Given the description of an element on the screen output the (x, y) to click on. 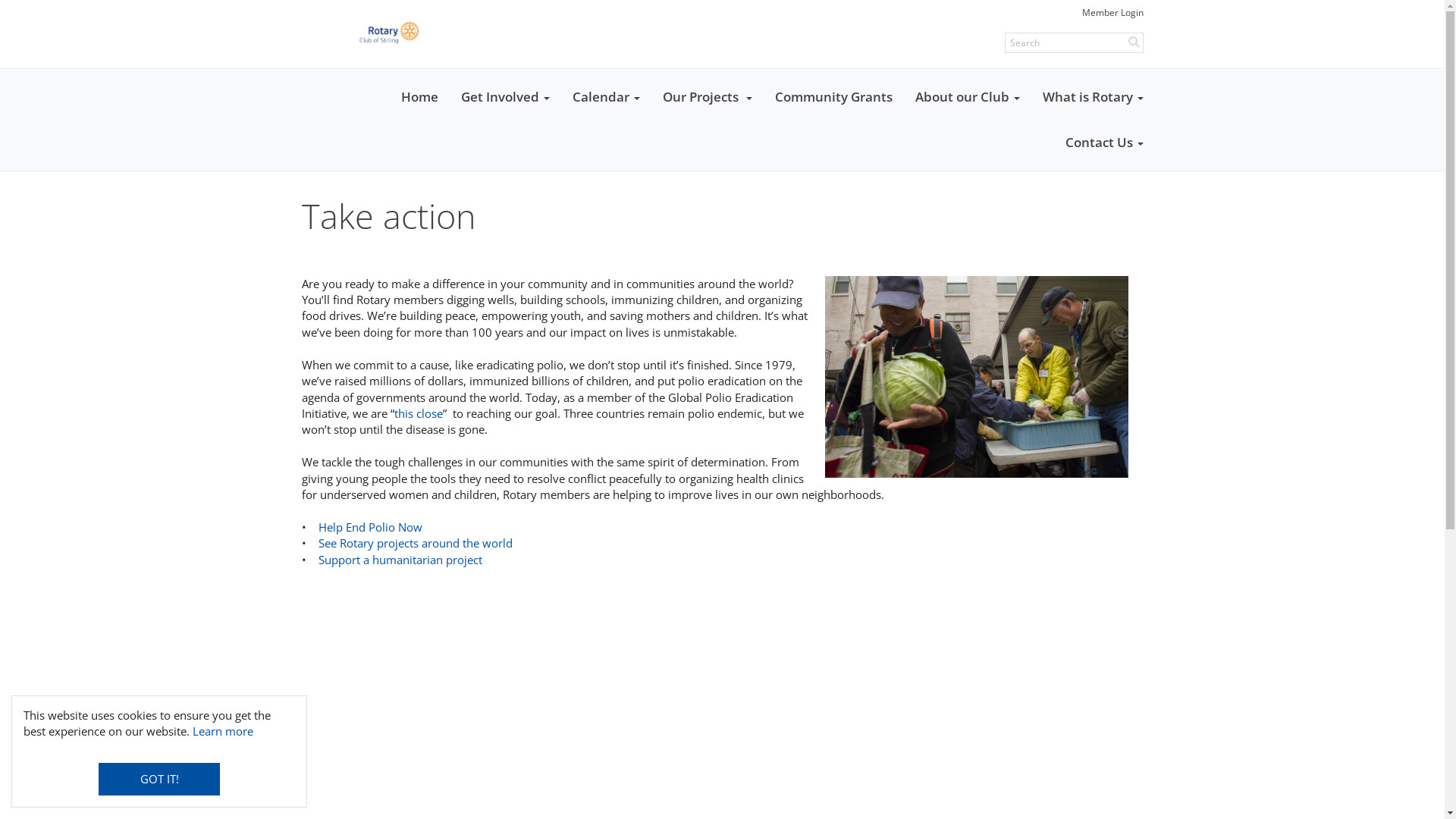
What is Rotary Element type: text (1092, 96)
GOT IT! Element type: text (158, 778)
Support a humanitarian project Element type: text (400, 559)
this close Element type: text (418, 412)
Our Projects Element type: text (706, 96)
Calendar Element type: text (606, 96)
Get Involved Element type: text (504, 96)
Member Login Element type: text (1111, 12)
Help End Polio Now Element type: text (370, 526)
See Rotary projects around the world Element type: text (415, 542)
About our Club Element type: text (967, 96)
Home Element type: text (419, 96)
Community Grants Element type: text (832, 96)
Contact Us Element type: text (1104, 142)
Learn more Element type: text (222, 730)
